Given the description of an element on the screen output the (x, y) to click on. 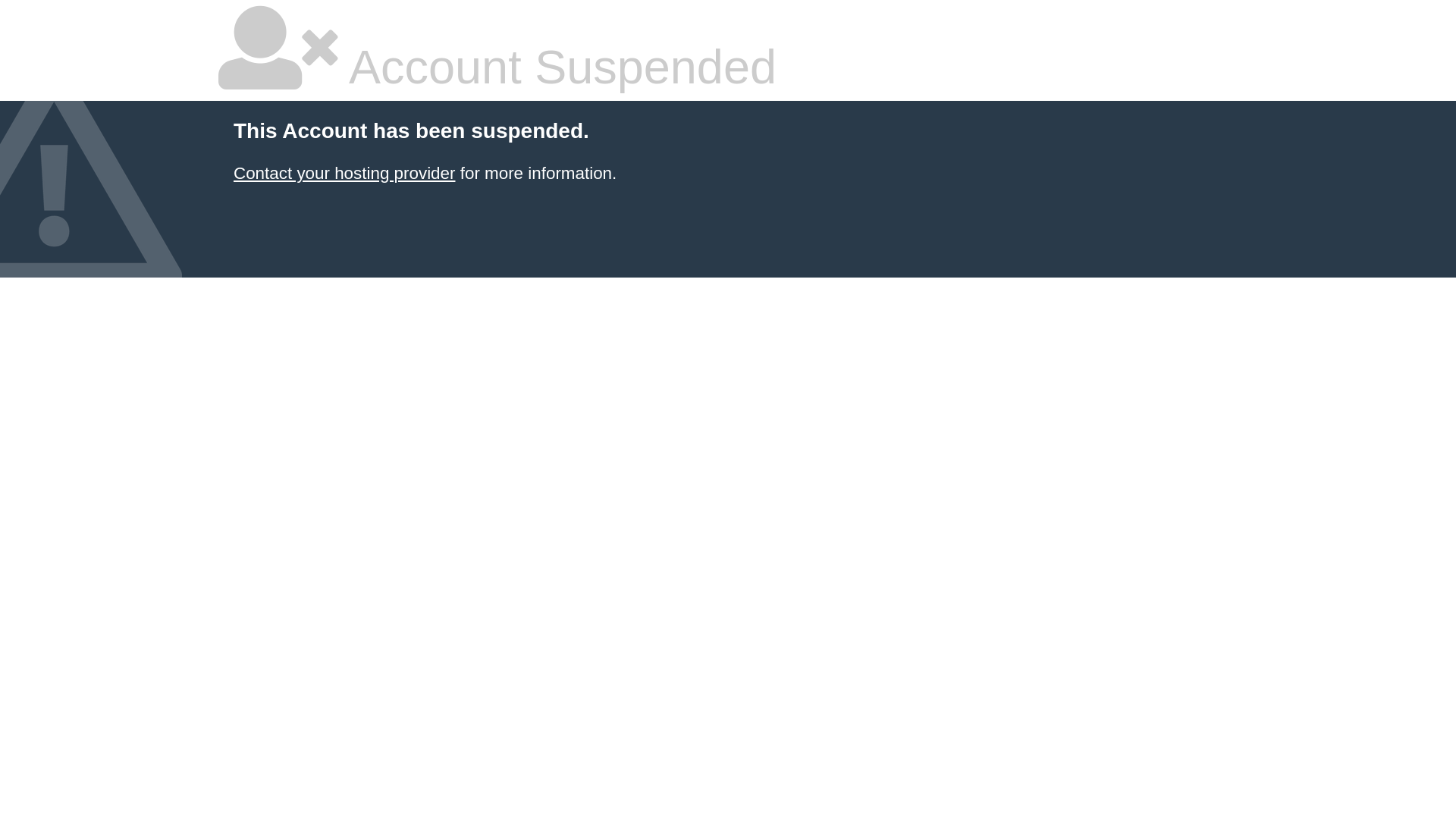
Contact your hosting provider Element type: text (344, 172)
